Given the description of an element on the screen output the (x, y) to click on. 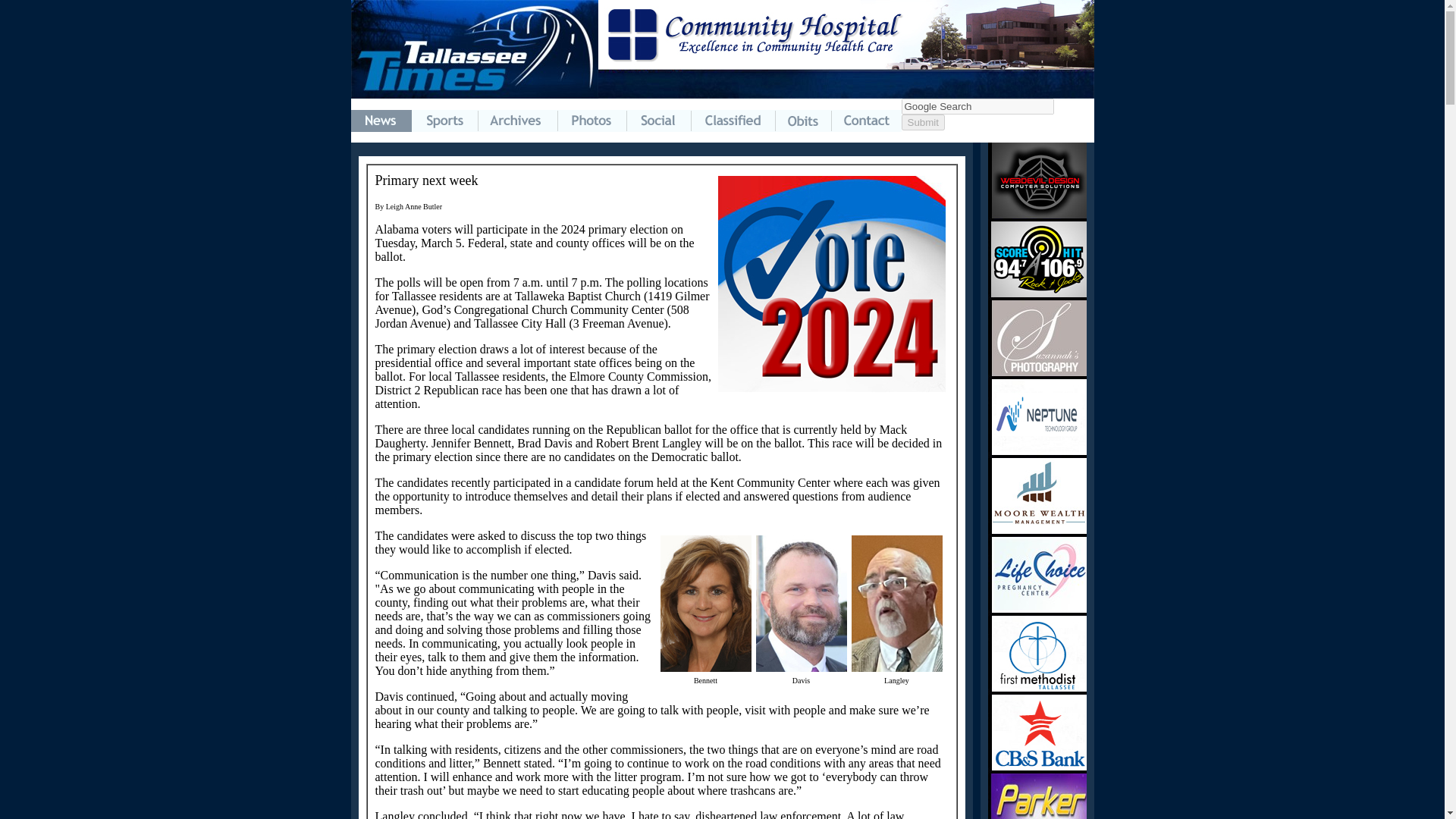
Submit (922, 122)
Google Search (976, 106)
Submit (922, 122)
